Given the description of an element on the screen output the (x, y) to click on. 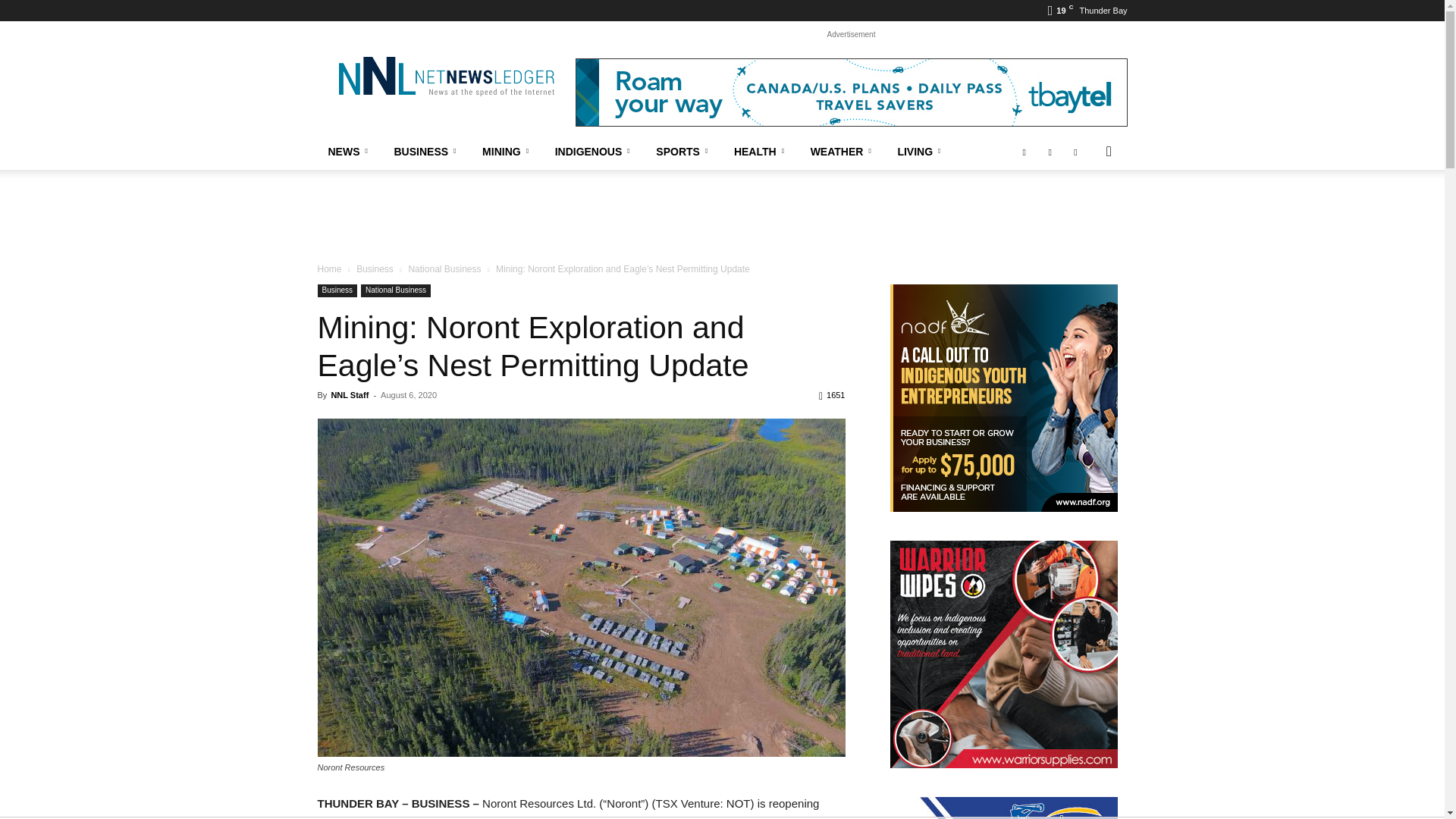
View all posts in Business (374, 268)
tbaytel (850, 92)
View all posts in National Business (443, 268)
NetNewsLedger (445, 76)
